Given the description of an element on the screen output the (x, y) to click on. 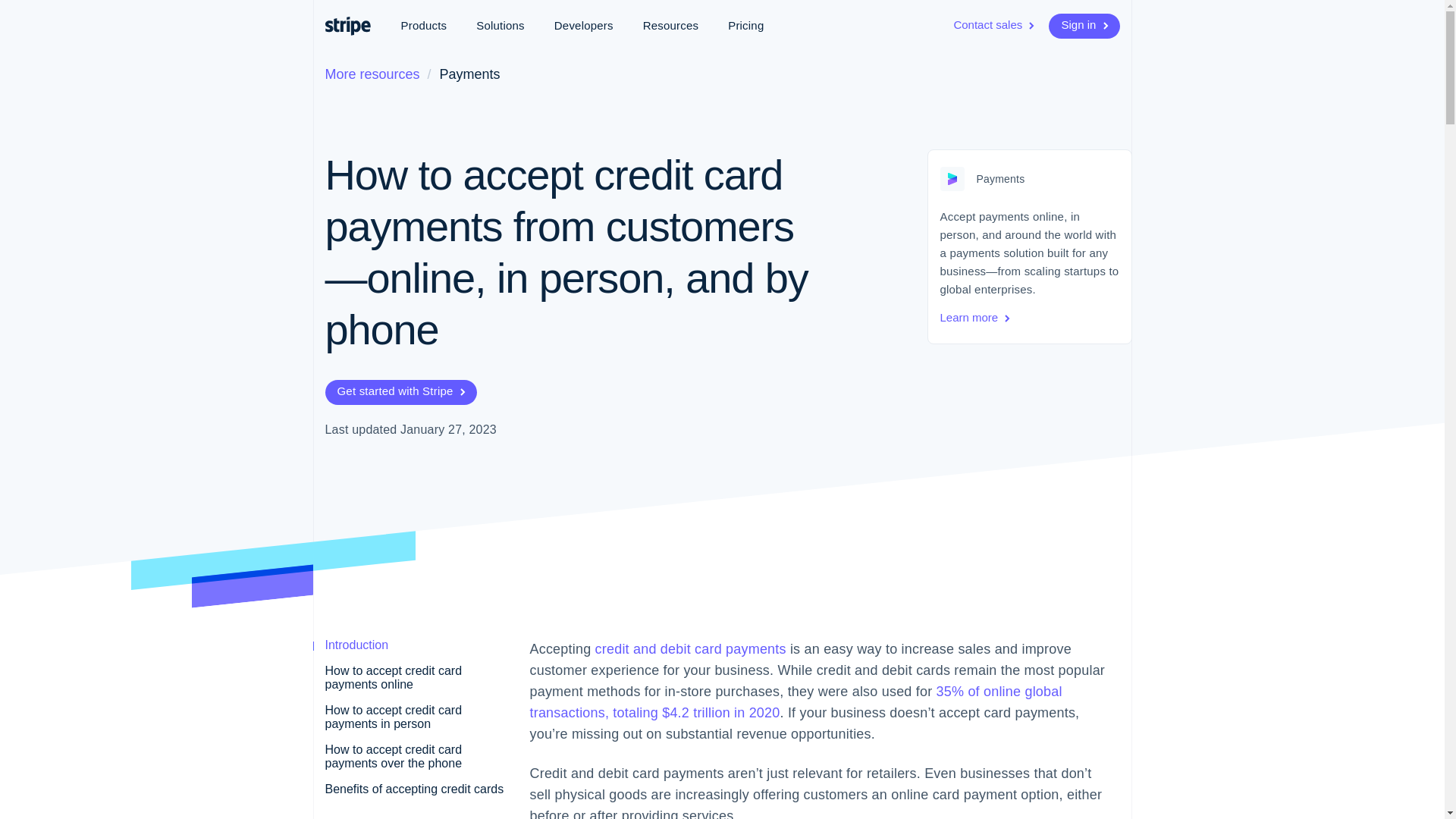
Solutions (500, 25)
Developers (583, 25)
Resources (670, 25)
Sign in  (1083, 25)
Contact sales  (994, 25)
Pricing (745, 25)
Products (423, 25)
